Given the description of an element on the screen output the (x, y) to click on. 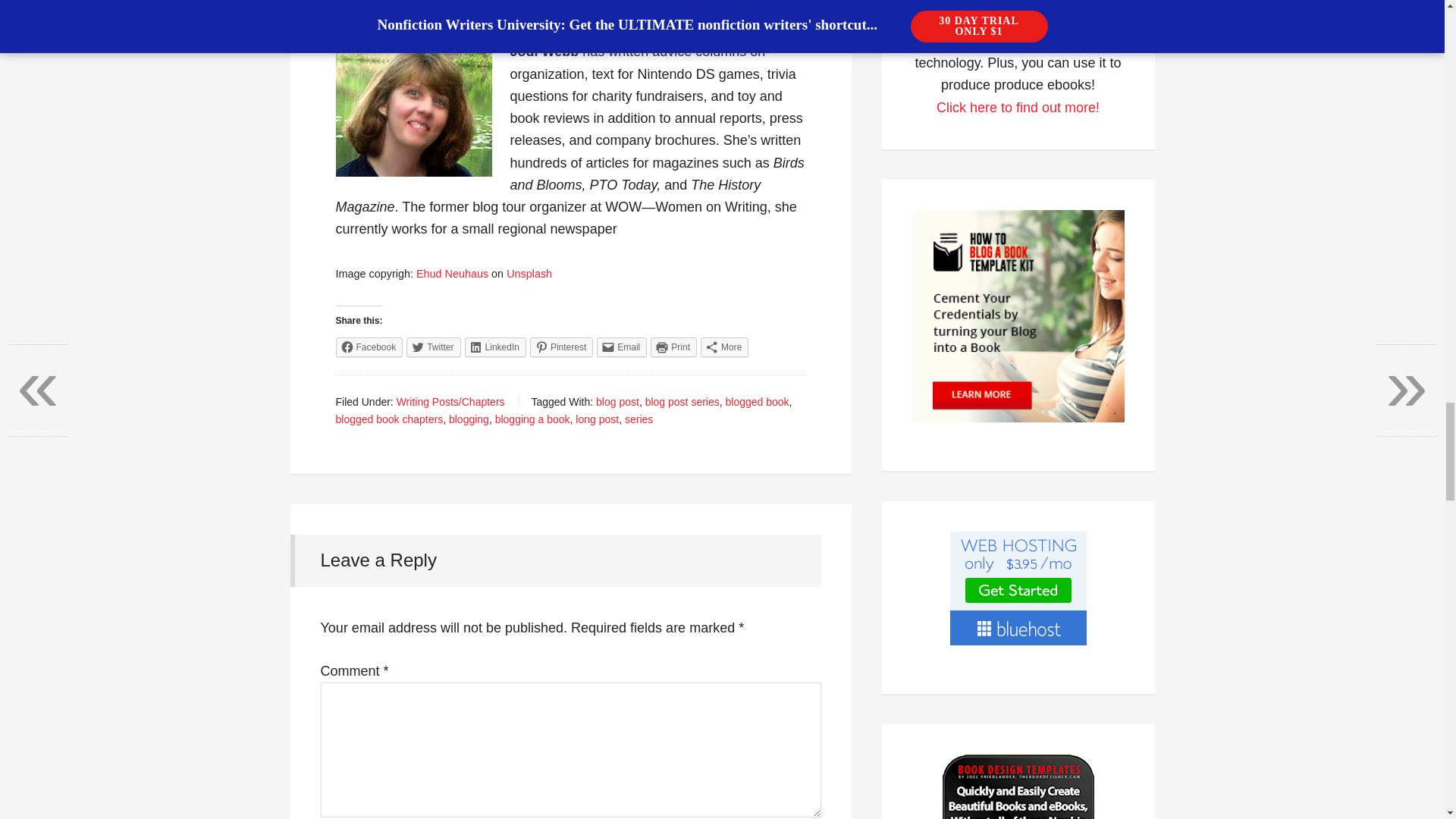
Click to email this to a friend (621, 347)
Click to share on Pinterest (560, 347)
Click to print (673, 347)
Click to share on LinkedIn (494, 347)
Click to share on Twitter (433, 347)
Click to share on Facebook (368, 347)
